Given the description of an element on the screen output the (x, y) to click on. 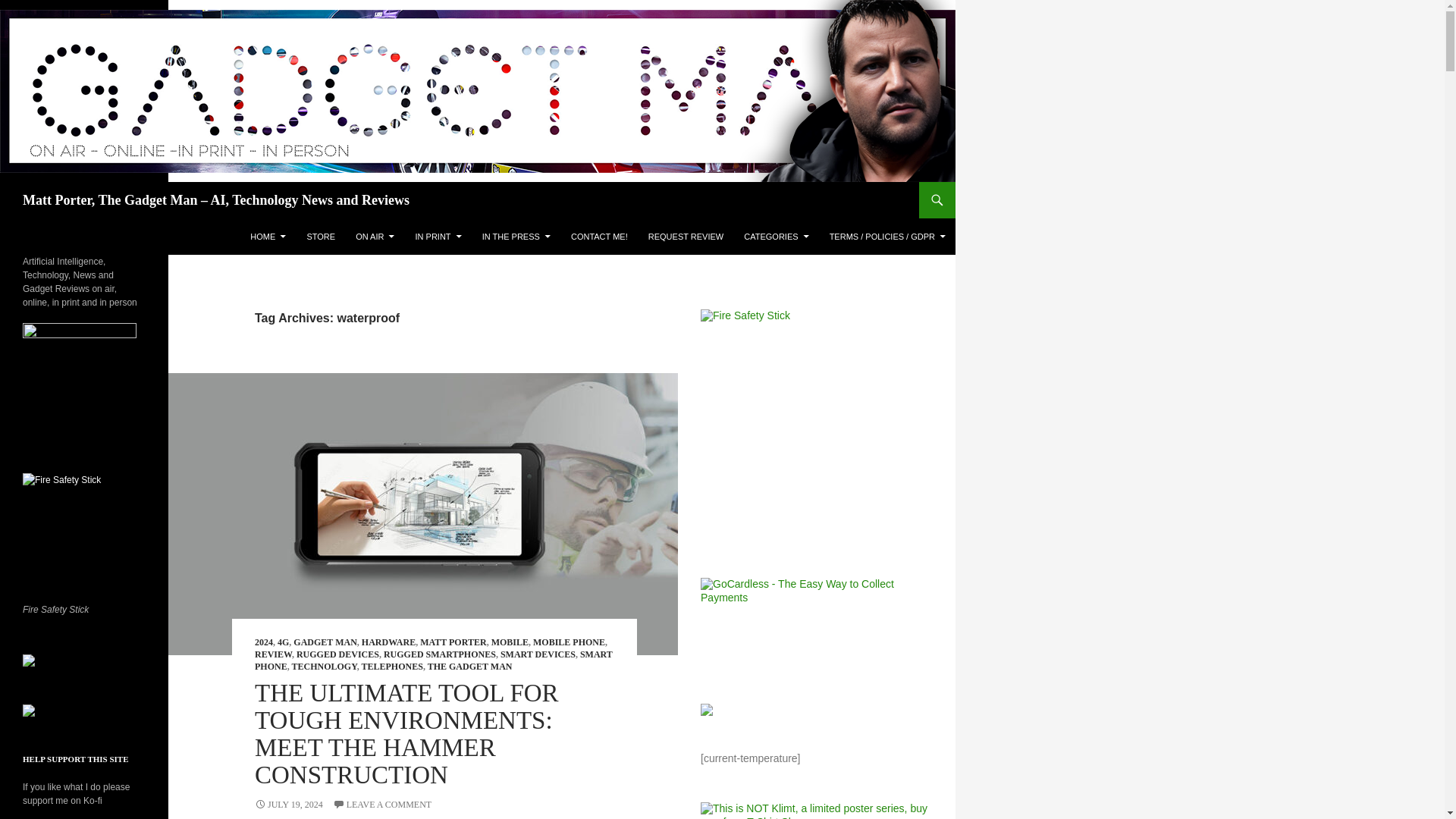
CATEGORIES (775, 236)
STORE (320, 236)
REQUEST REVIEW (685, 236)
HOME (268, 236)
Fire Safety Stick (816, 425)
ON AIR (374, 236)
2024 (263, 642)
CONTACT ME! (599, 236)
